Given the description of an element on the screen output the (x, y) to click on. 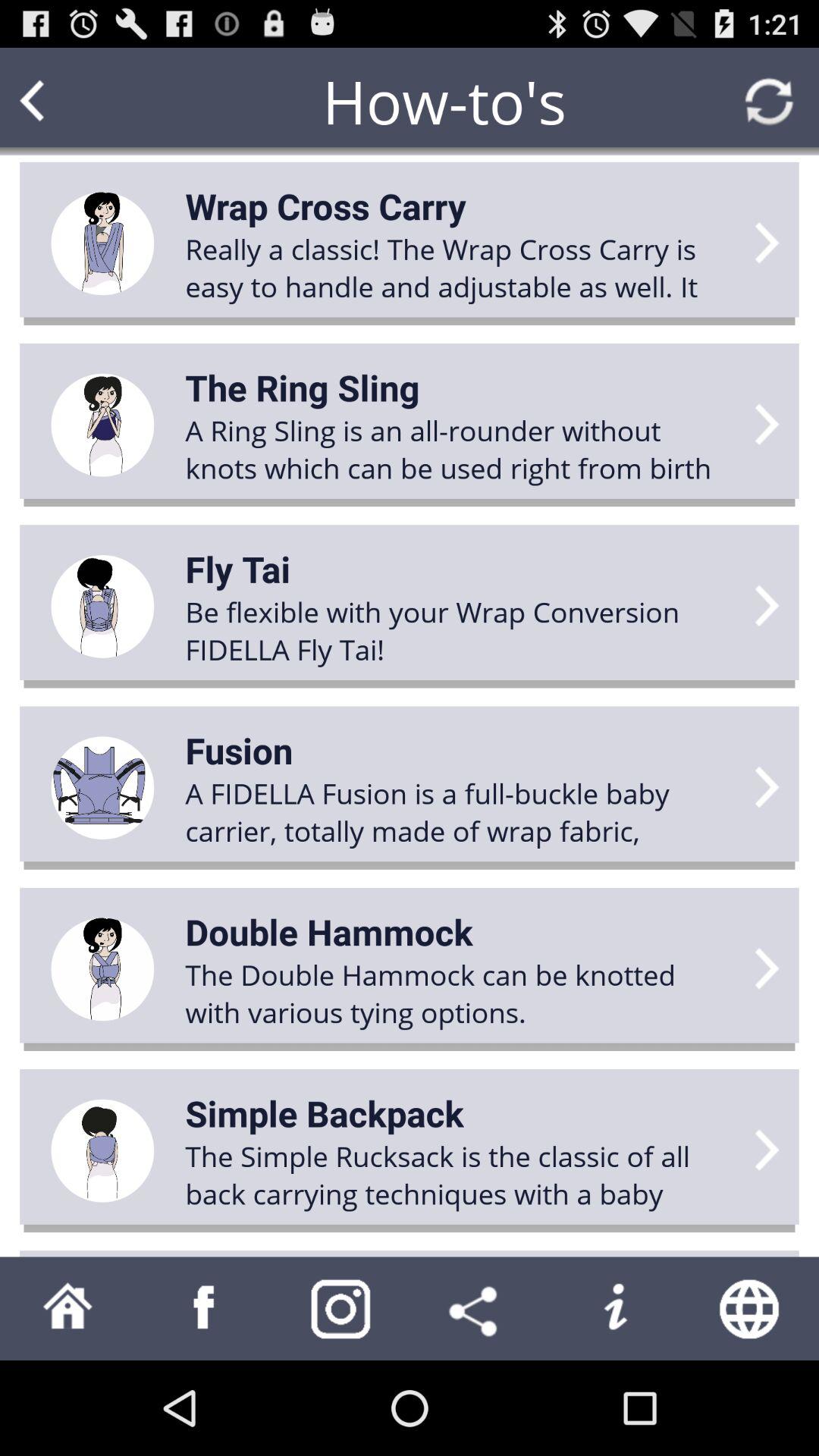
select the item to the left of how-to's app (61, 101)
